Given the description of an element on the screen output the (x, y) to click on. 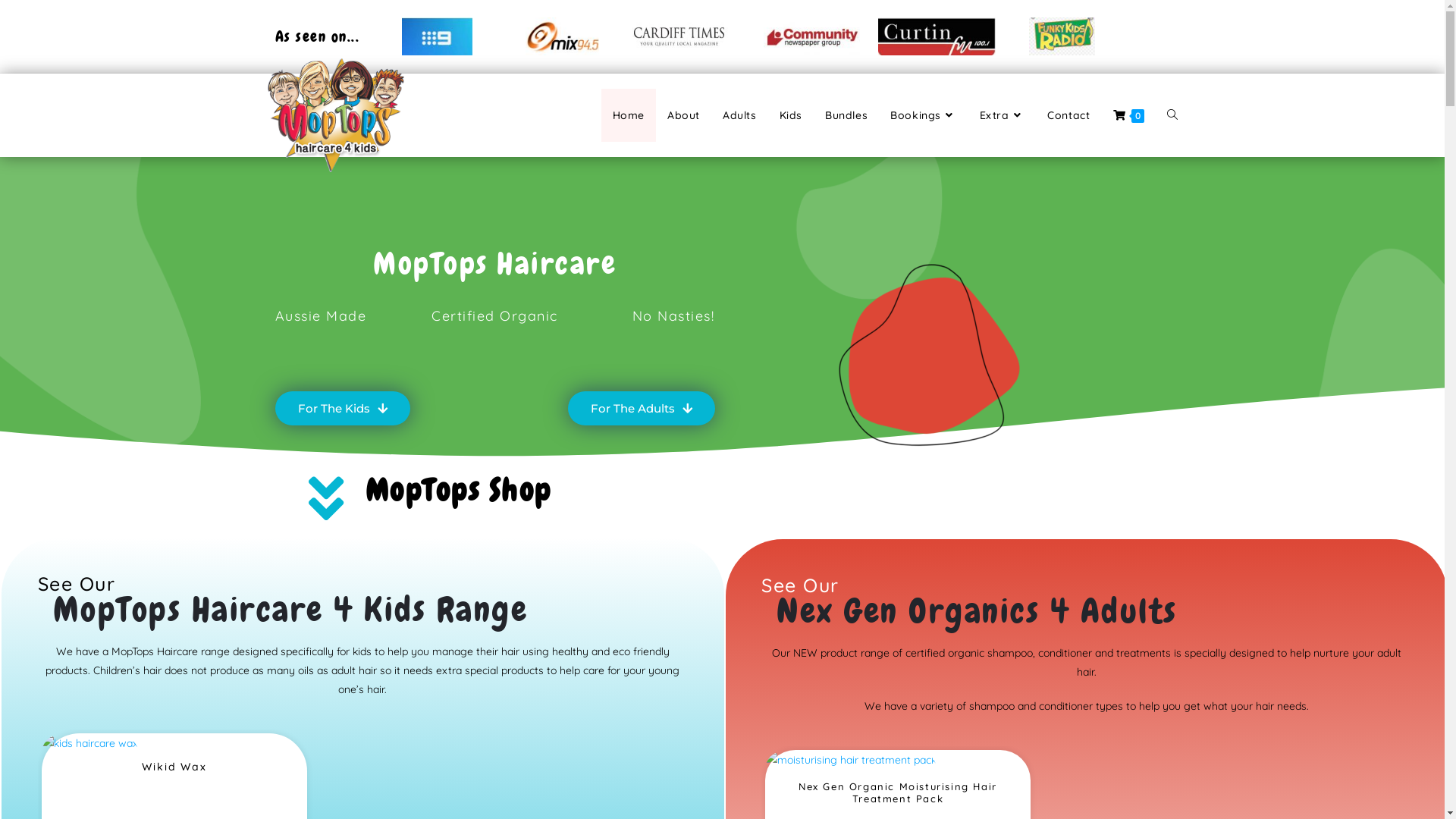
0 Element type: text (1127, 114)
Kids Element type: text (790, 114)
Bundles Element type: text (845, 114)
Adults Element type: text (739, 114)
For The Adults Element type: text (640, 408)
Home Element type: text (628, 114)
About Element type: text (683, 114)
For The Kids Element type: text (341, 408)
Contact Element type: text (1068, 114)
Nex Gen Organic Moisturising Hair Treatment Pack Element type: text (897, 792)
Extra Element type: text (1002, 114)
Bookings Element type: text (922, 114)
